Given the description of an element on the screen output the (x, y) to click on. 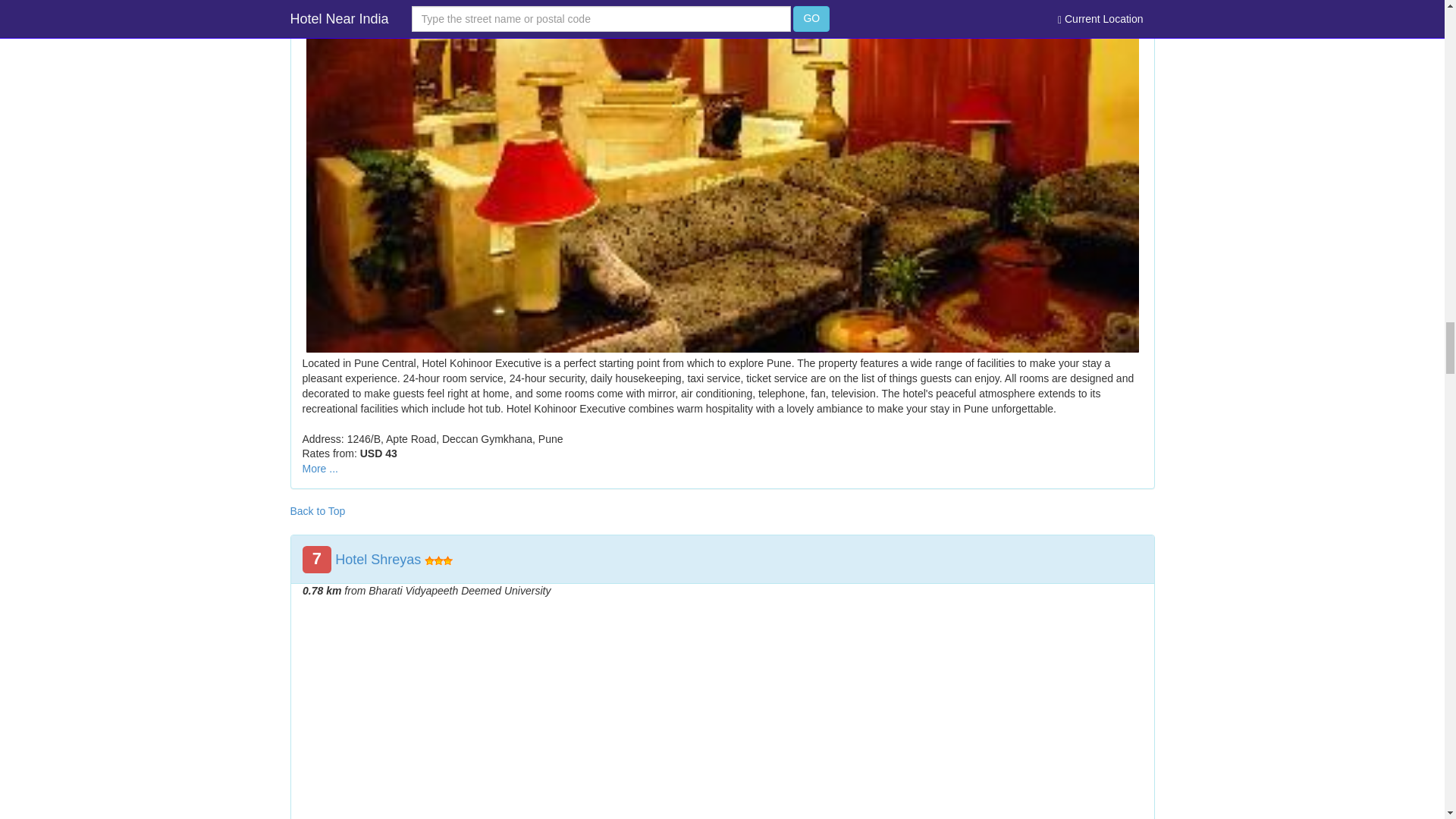
More ... (319, 468)
Back to Top (317, 510)
Hotel Shreyas (377, 559)
